Given the description of an element on the screen output the (x, y) to click on. 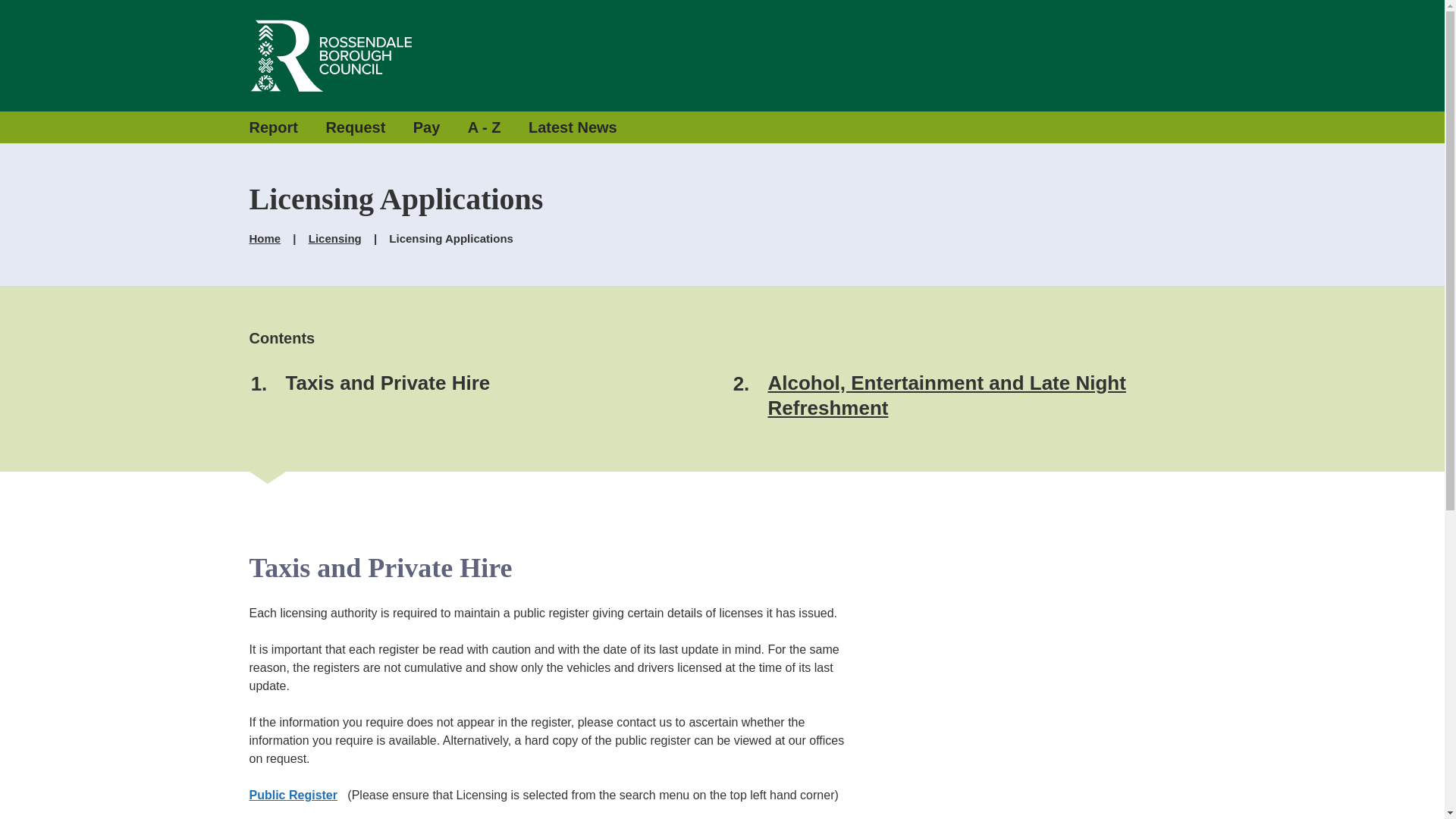
A - Z (483, 126)
Report (272, 126)
Public Register (292, 794)
Licensing (334, 238)
Alcohol, Entertainment and Late Night Refreshment (946, 395)
Pay (427, 126)
Latest News (572, 126)
Home (264, 238)
Request (354, 126)
